Given the description of an element on the screen output the (x, y) to click on. 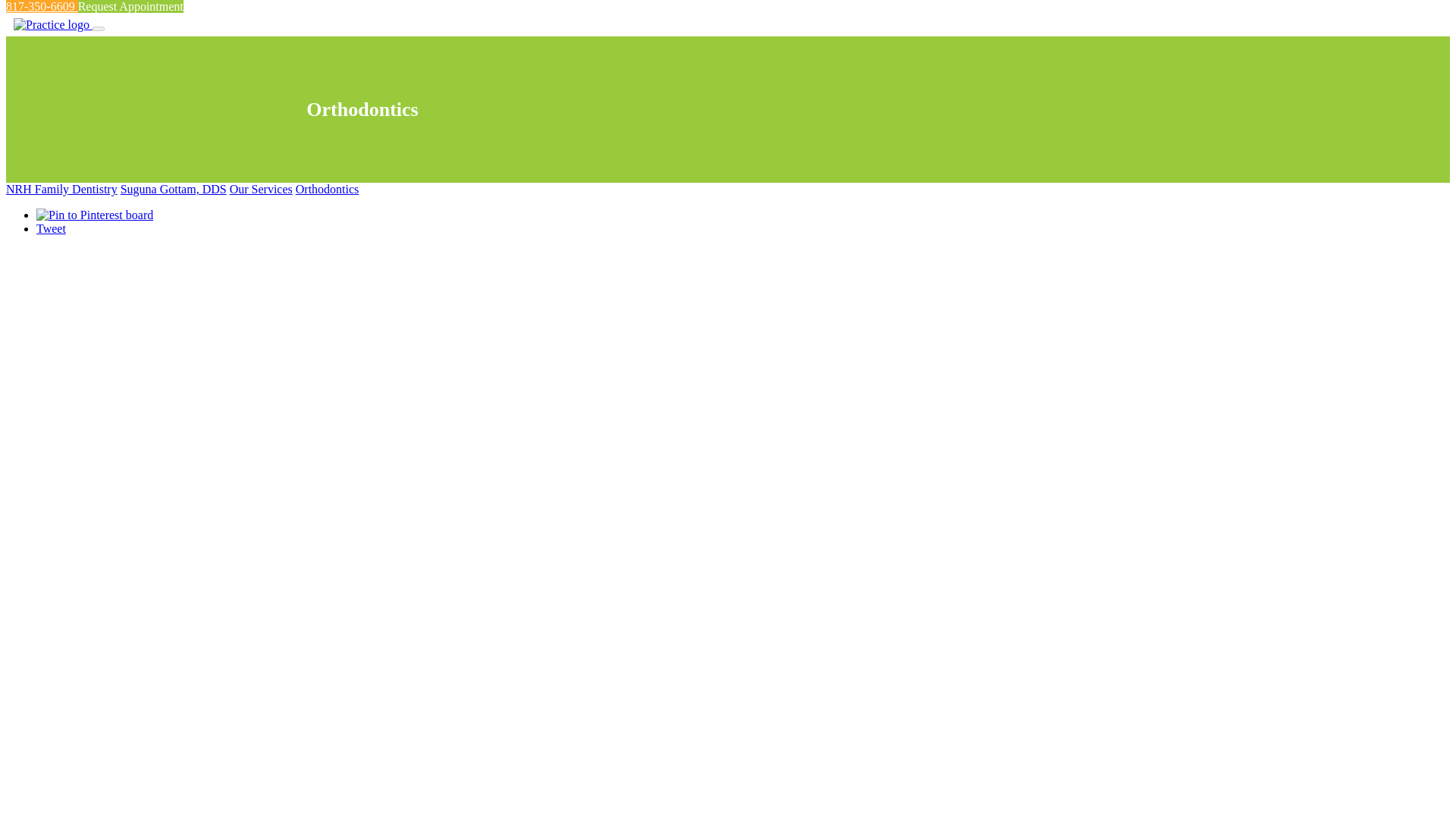
Orthodontics (327, 188)
817-350-6609 (41, 6)
Tweet (50, 228)
NRH Family Dentistry (61, 188)
Suguna Gottam, DDS (173, 188)
Our Services (261, 188)
Request Appointment (130, 6)
